Given the description of an element on the screen output the (x, y) to click on. 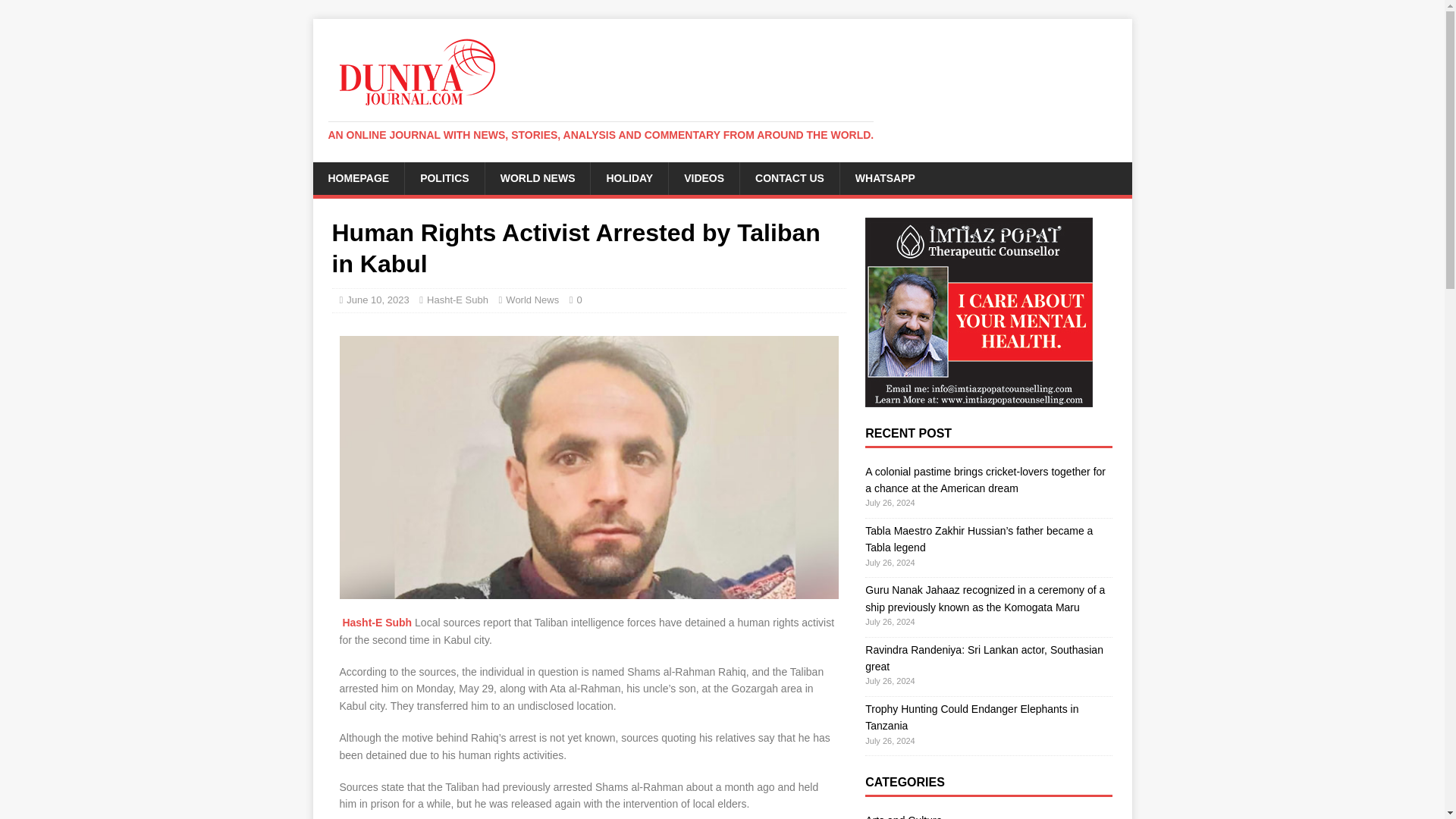
Hasht-E Subh (456, 299)
 Hasht-E Subh (375, 622)
Ravindra Randeniya: Sri Lankan actor, Southasian great (983, 657)
HOLIDAY (628, 178)
CONTACT US (789, 178)
POLITICS (444, 178)
June 10, 2023 (377, 299)
HOMEPAGE (358, 178)
VIDEOS (703, 178)
World News (532, 299)
Trophy Hunting Could Endanger Elephants in Tanzania (971, 717)
WORLD NEWS (537, 178)
